Given the description of an element on the screen output the (x, y) to click on. 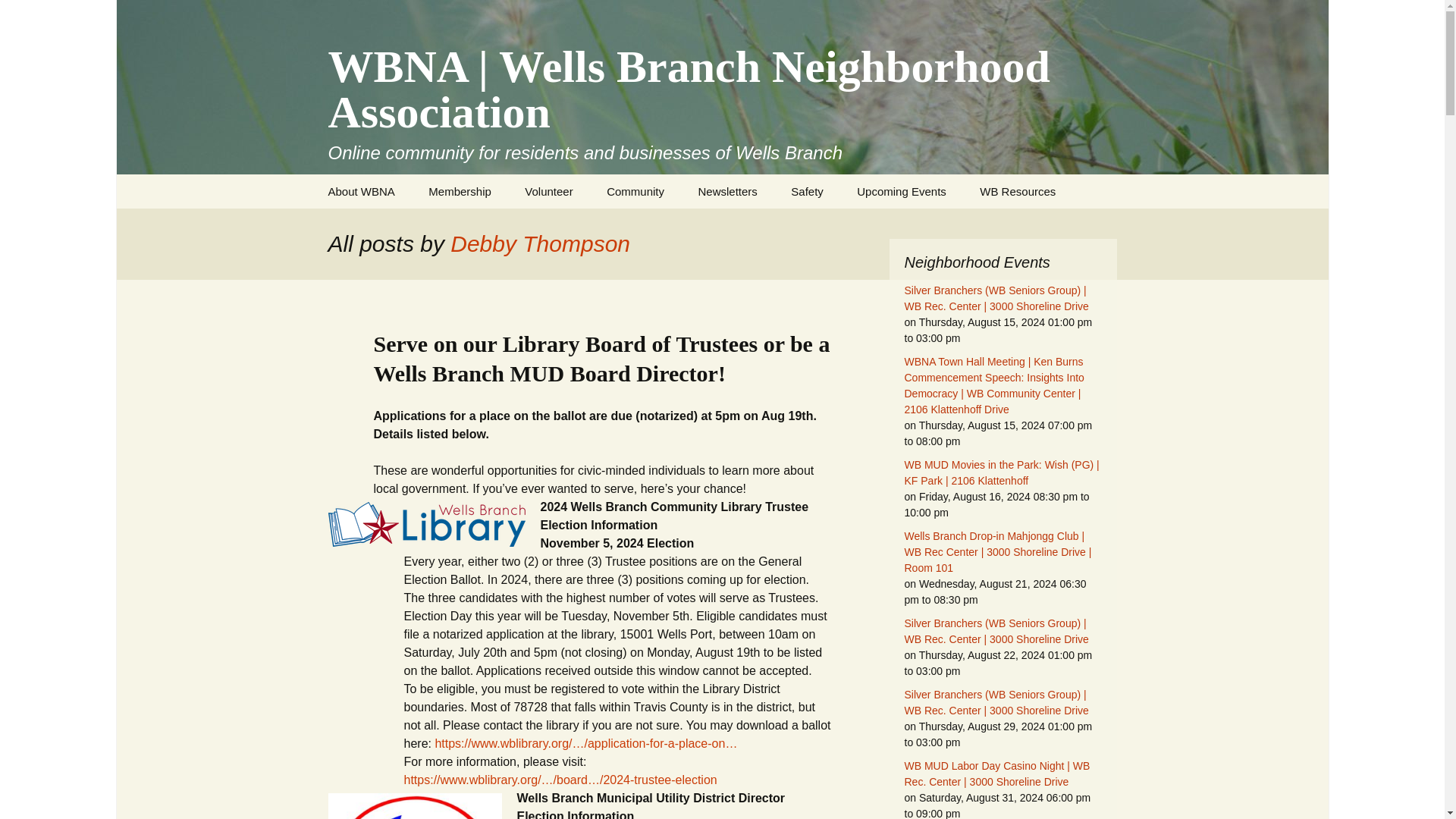
Membership (459, 191)
Community (635, 191)
Contact Us (388, 225)
Debby Thompson (539, 243)
About WBNA (361, 191)
Volunteer (548, 191)
